Given the description of an element on the screen output the (x, y) to click on. 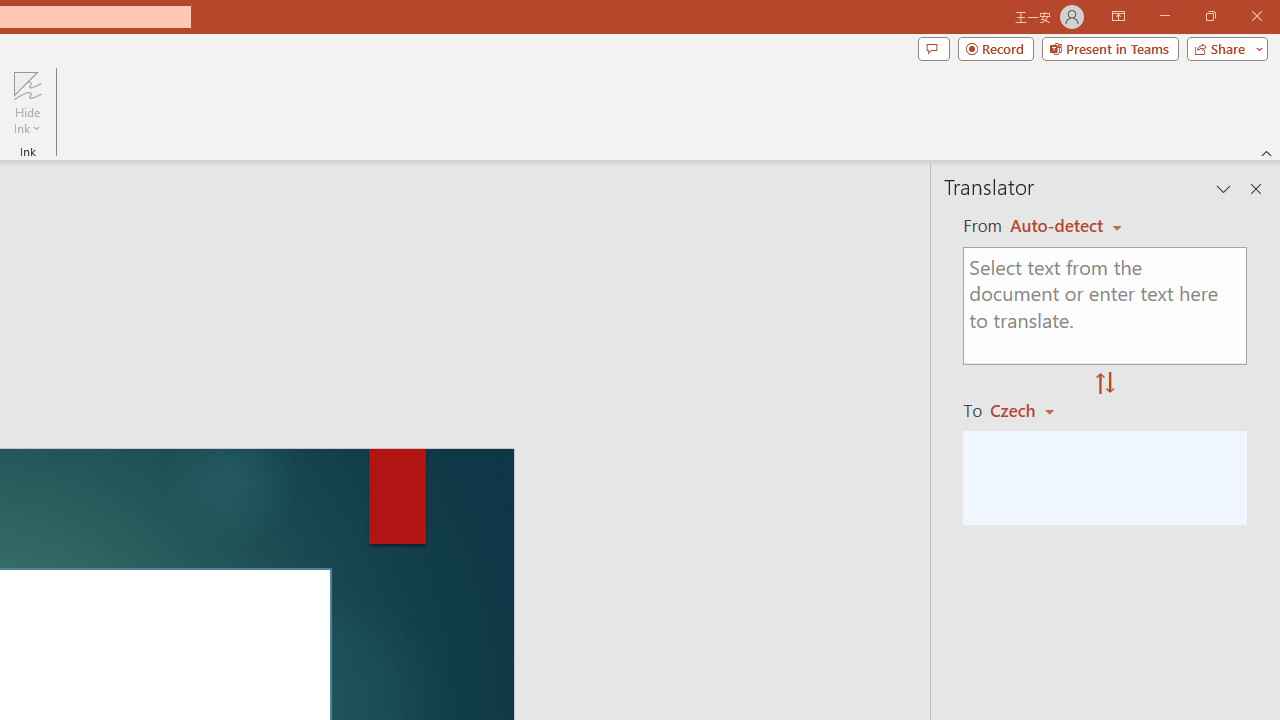
English (1066, 225)
